Given the description of an element on the screen output the (x, y) to click on. 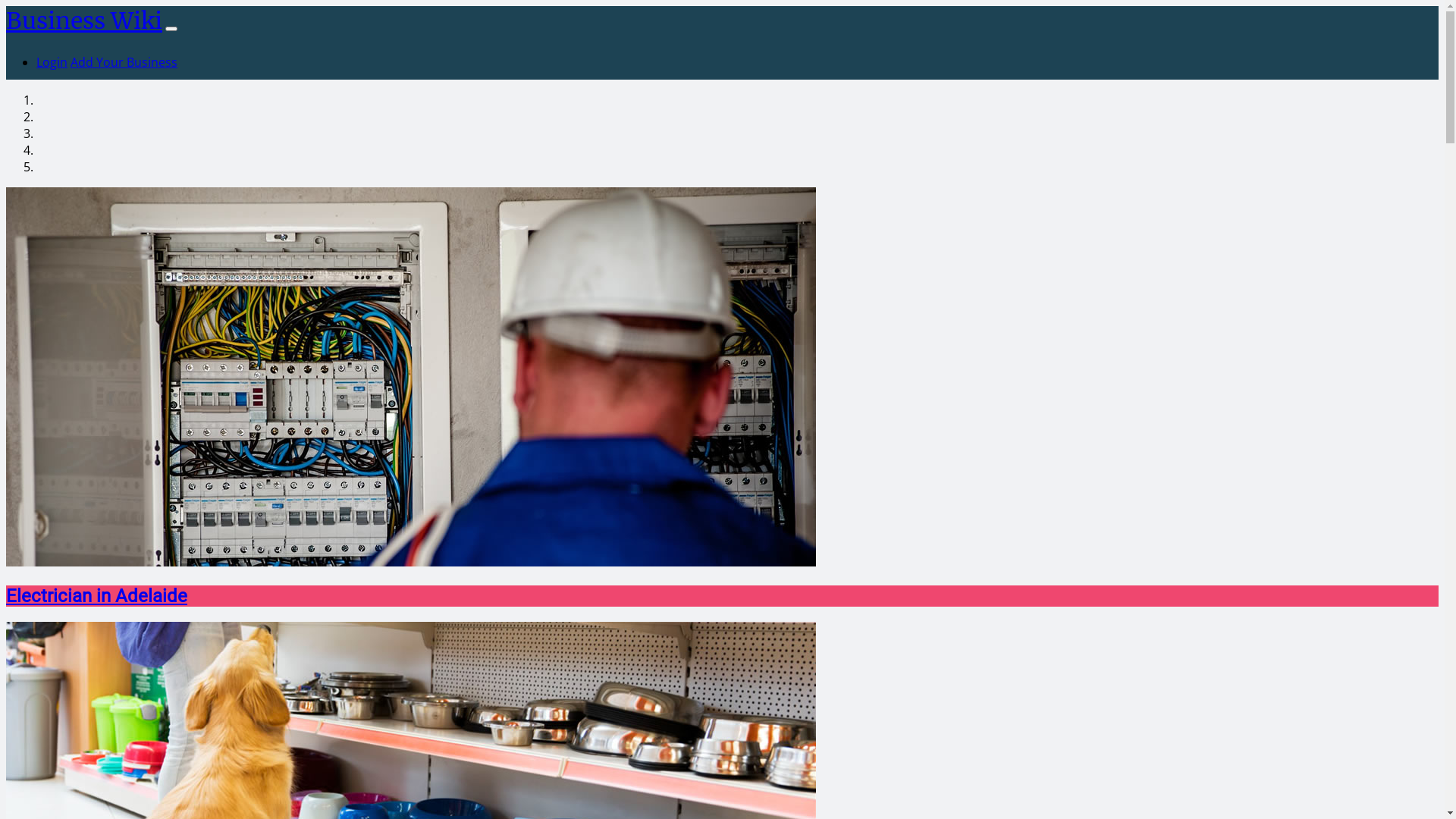
Add Your Business Element type: text (123, 61)
Business Wiki Element type: text (84, 20)
Login Element type: text (51, 61)
Electrician in Adelaide Element type: text (96, 595)
